Given the description of an element on the screen output the (x, y) to click on. 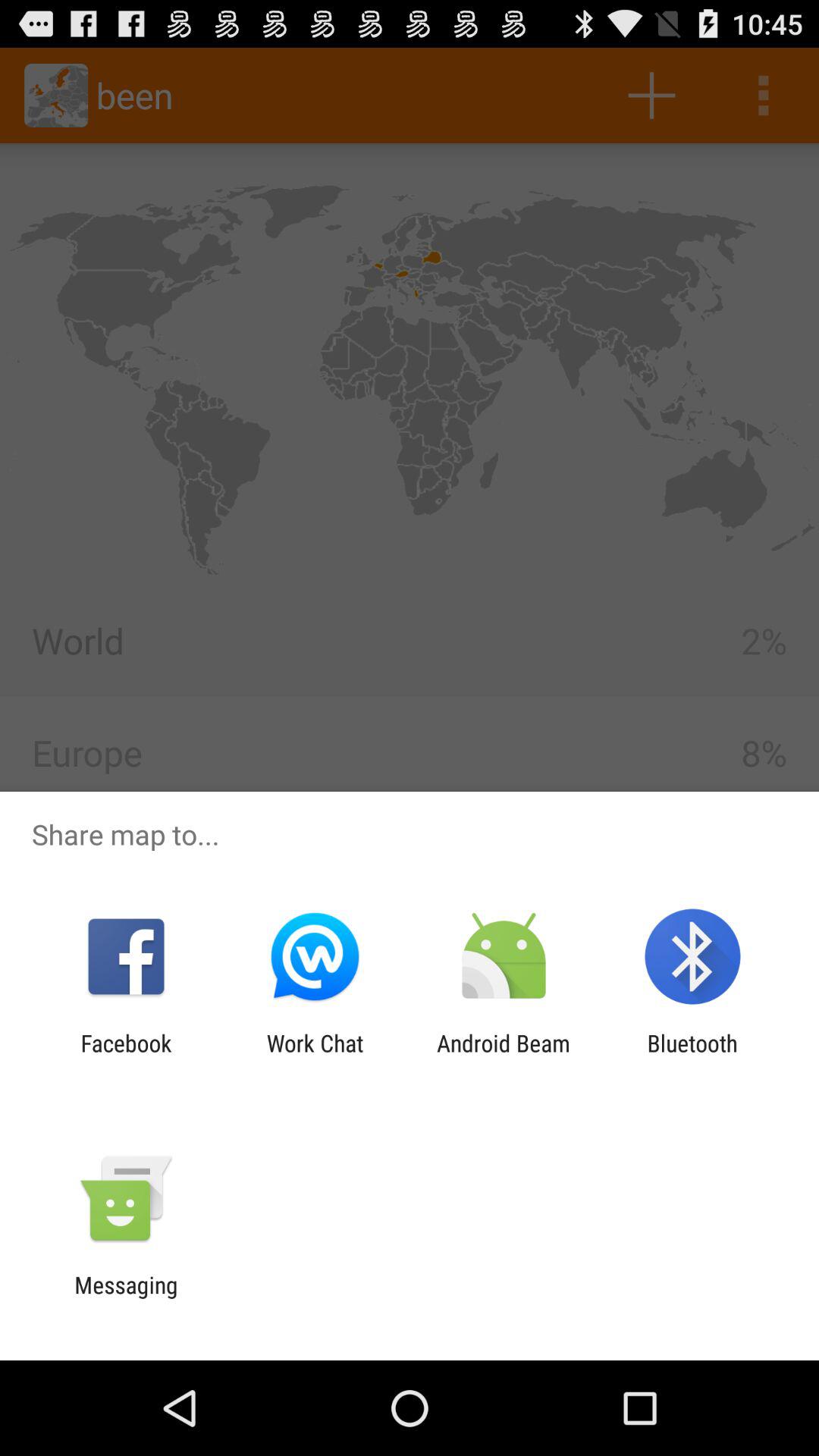
open the messaging icon (126, 1298)
